Given the description of an element on the screen output the (x, y) to click on. 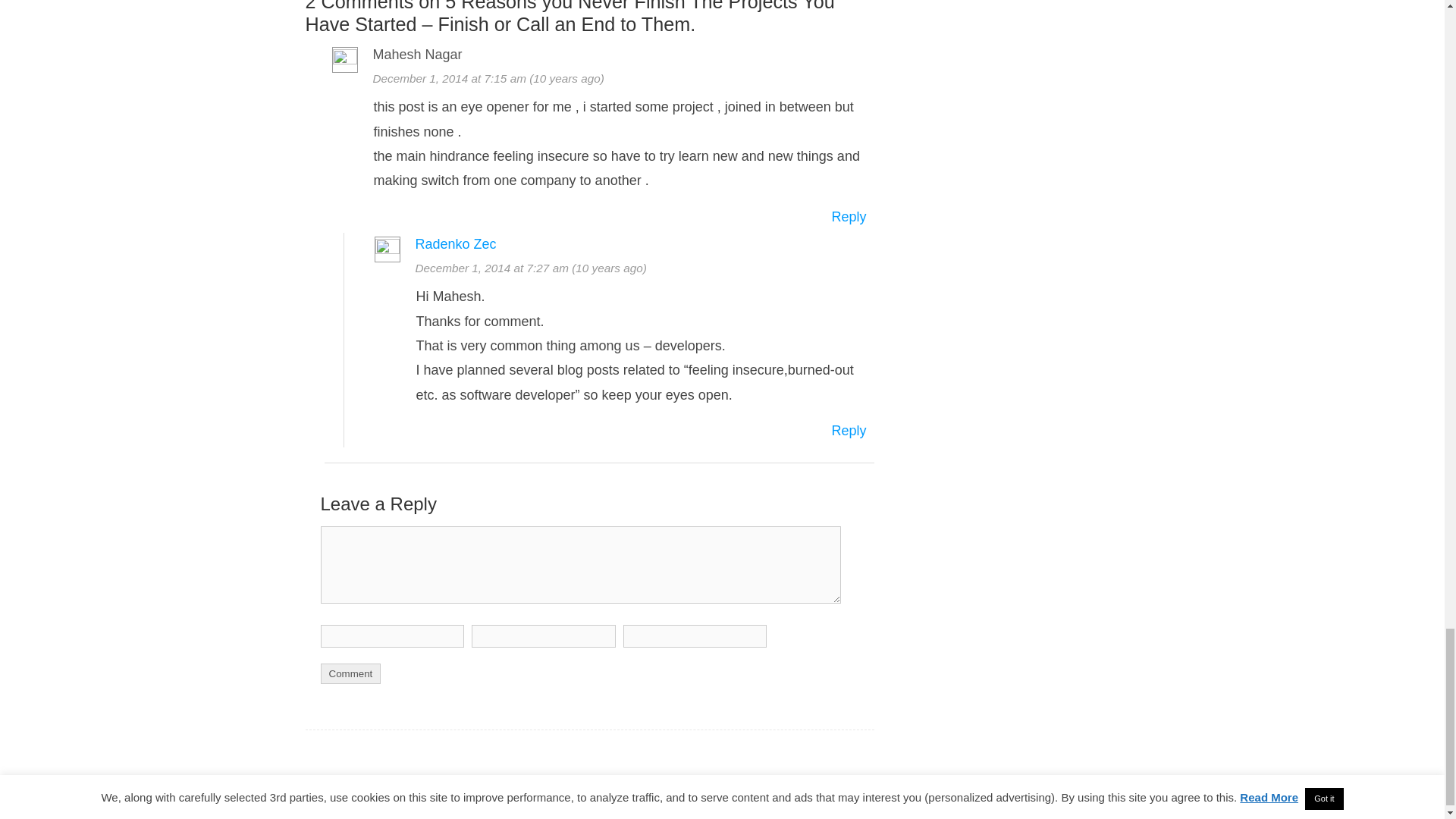
Website (695, 635)
Comment (350, 673)
Comment (580, 564)
Radenko Zec (455, 243)
Comment (350, 673)
Reply (848, 216)
Reply (848, 430)
